Given the description of an element on the screen output the (x, y) to click on. 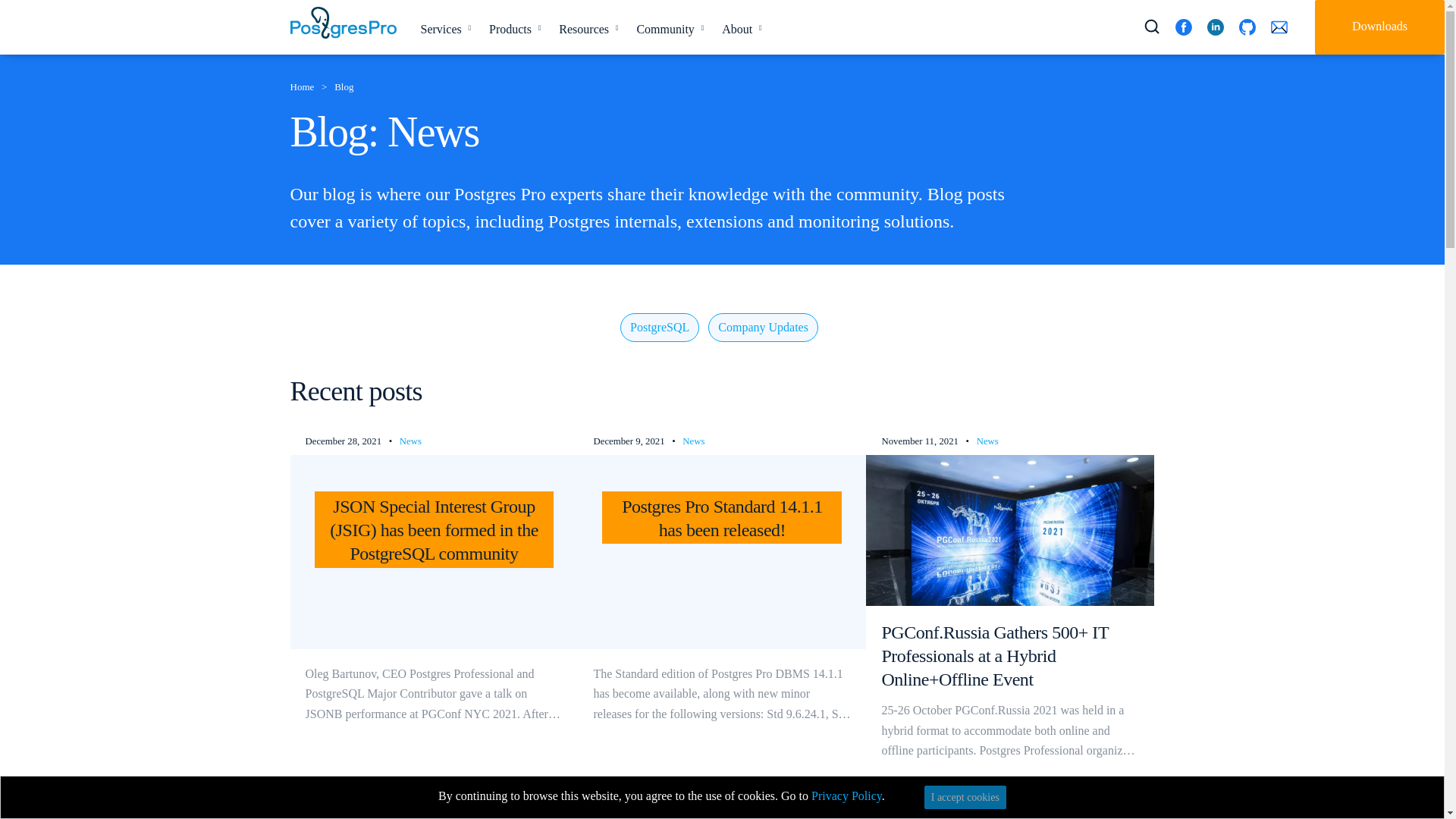
Postgres Pro (342, 22)
Services (442, 28)
Products (512, 28)
Facebook (1183, 27)
